Given the description of an element on the screen output the (x, y) to click on. 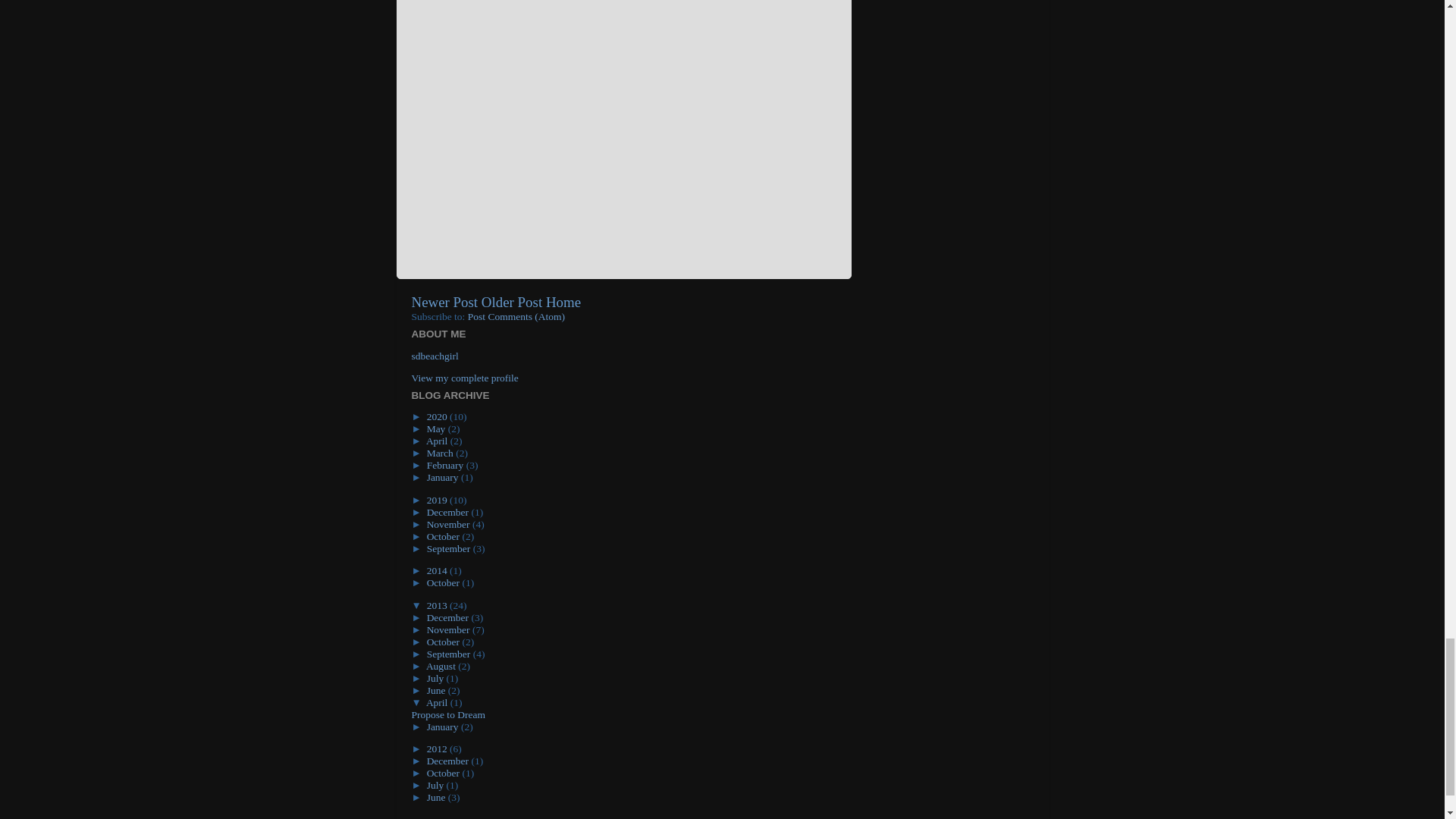
February (445, 464)
January (443, 477)
2019 (437, 500)
Older Post (511, 302)
Newer Post (443, 302)
March (441, 452)
Older Post (511, 302)
Newer Post (443, 302)
Home (563, 302)
April (437, 440)
sdbeachgirl (434, 355)
2020 (437, 416)
View my complete profile (464, 378)
May (437, 428)
